Given the description of an element on the screen output the (x, y) to click on. 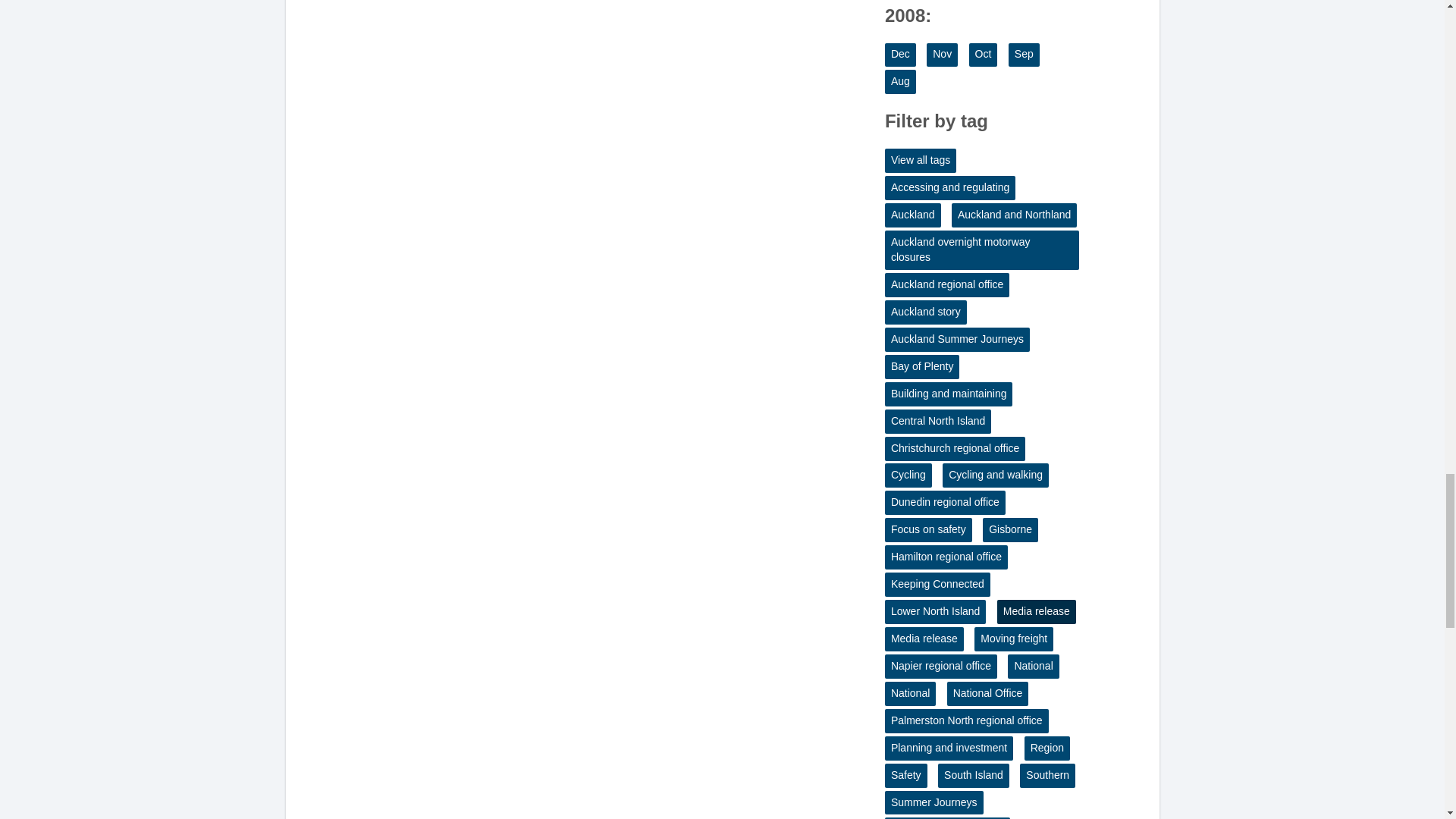
View items tagged Focus on safety (928, 529)
View all tags (920, 160)
View items tagged Central North Island (938, 421)
View items tagged Keeping Connected (937, 584)
View items tagged Bay of Plenty (922, 366)
View items tagged Accessing and regulating (949, 187)
View items tagged Dunedin regional office (945, 502)
View items tagged Auckland overnight motorway closures (981, 250)
View items tagged Auckland story (925, 312)
View items tagged Auckland regional office (947, 284)
View items tagged Auckland Summer Journeys (957, 339)
View items tagged Auckland (912, 215)
View items tagged Auckland and Northland (1014, 215)
View items tagged Hamilton regional office (946, 557)
View items tagged Christchurch regional office (955, 448)
